Given the description of an element on the screen output the (x, y) to click on. 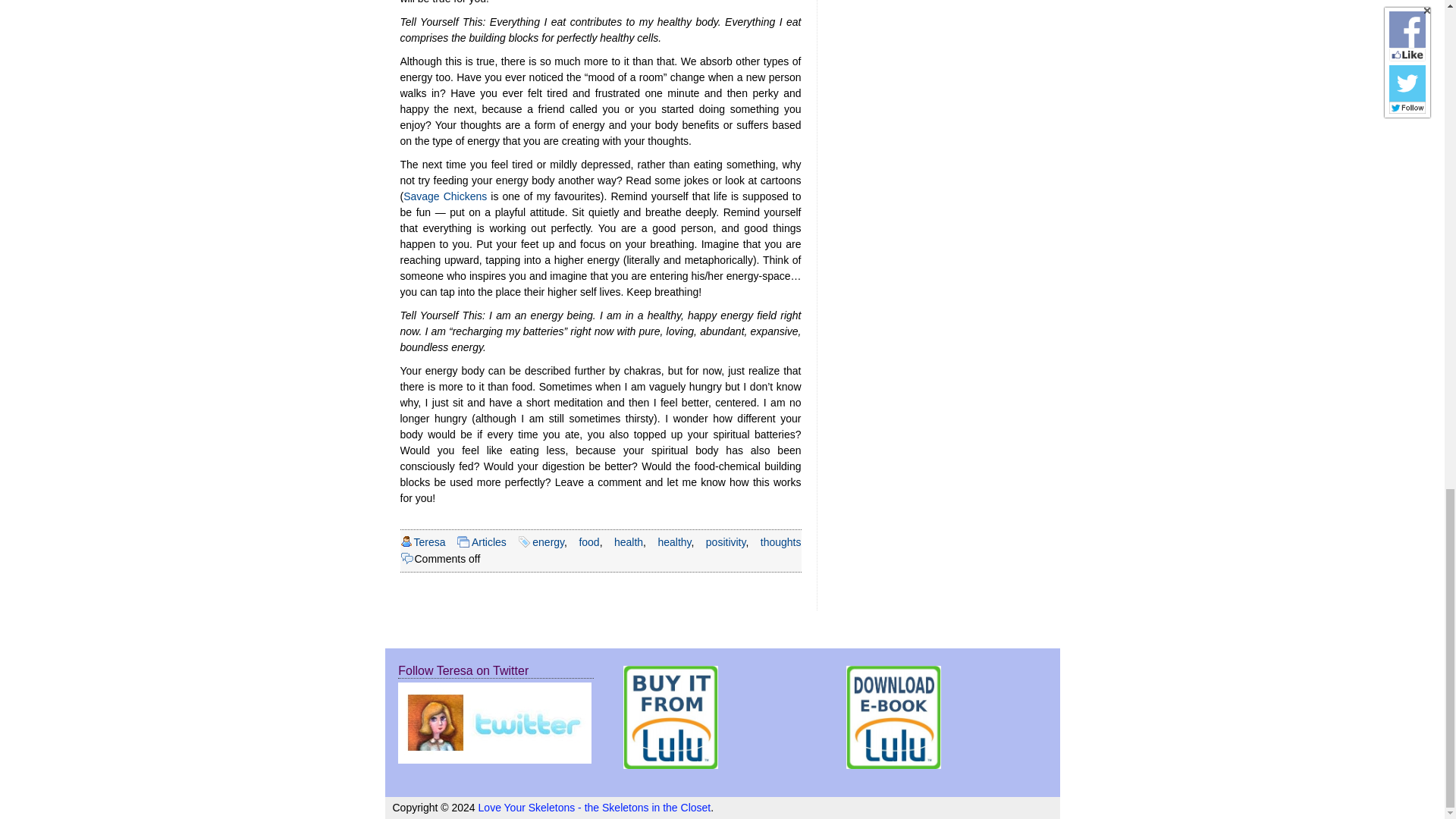
Love Your Skeletons - the Skeletons in the Closet (595, 807)
Teresa (429, 541)
Articles (488, 541)
Savage Chickens (444, 196)
lulu (670, 717)
health (628, 541)
energy (548, 541)
positivity (725, 541)
Posts by Teresa (429, 541)
food (588, 541)
thoughts (781, 541)
lulu (893, 717)
healthy (674, 541)
